Given the description of an element on the screen output the (x, y) to click on. 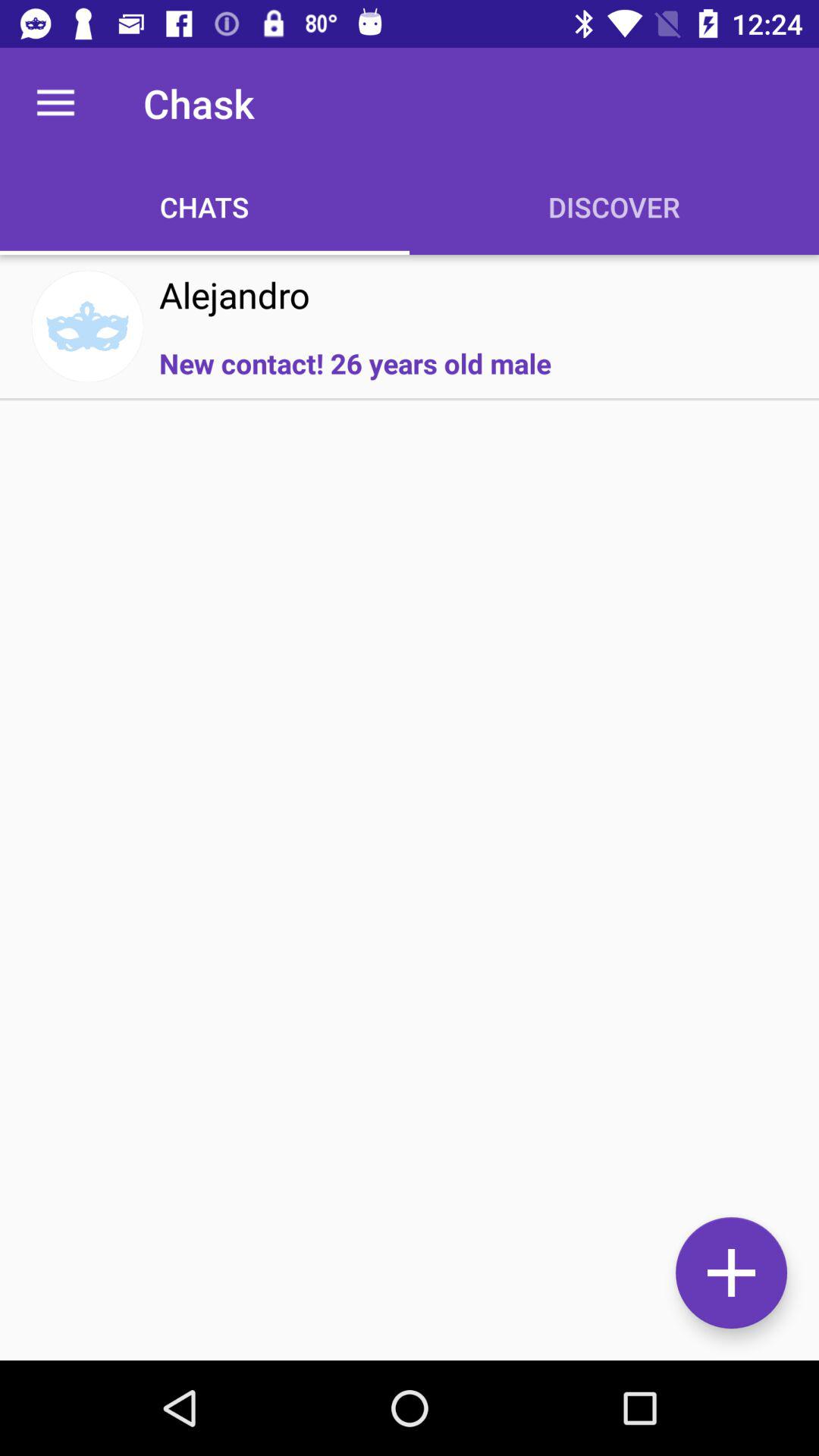
select item below the alejandro item (355, 363)
